Given the description of an element on the screen output the (x, y) to click on. 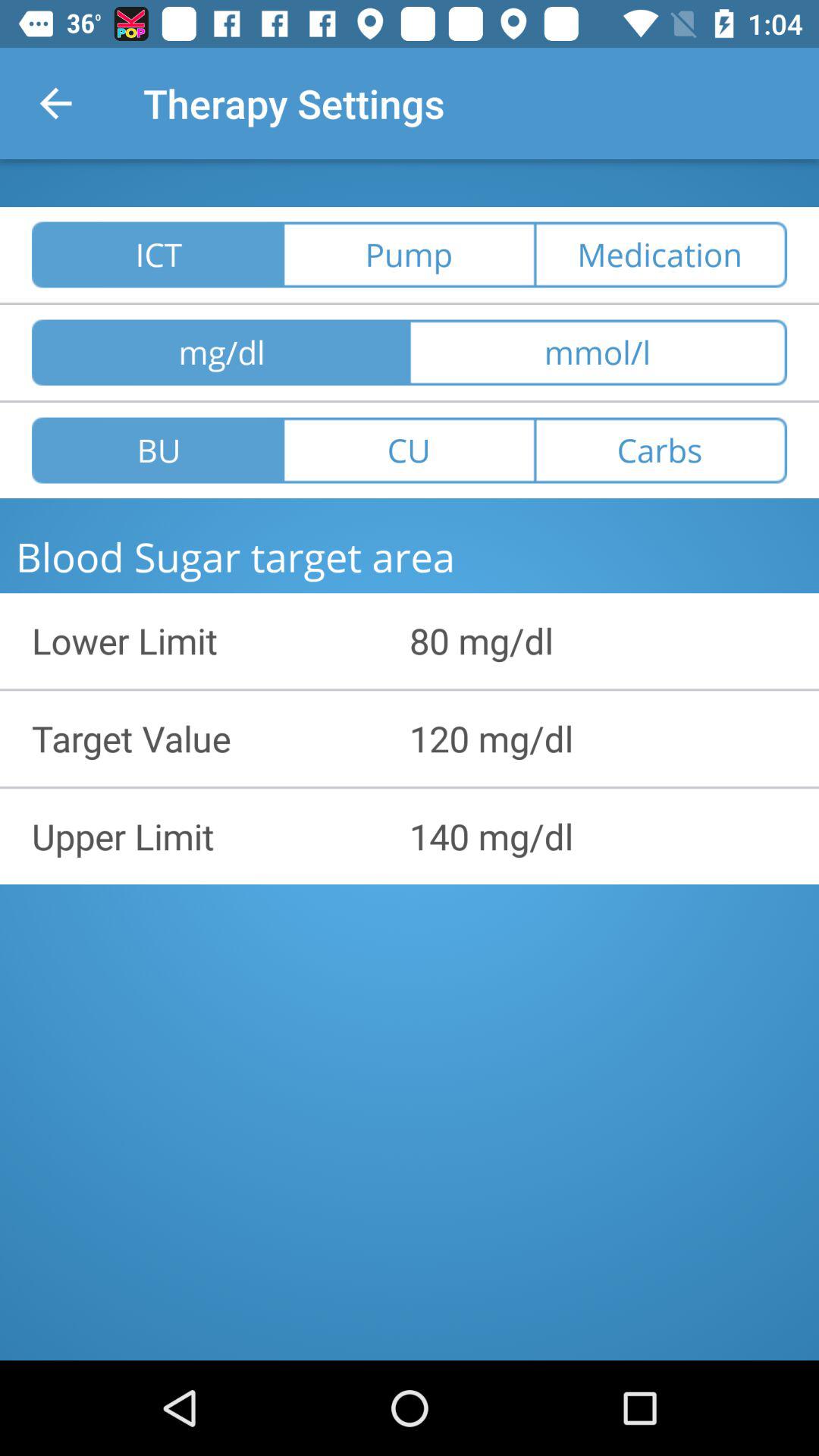
jump to the carbs (661, 450)
